Given the description of an element on the screen output the (x, y) to click on. 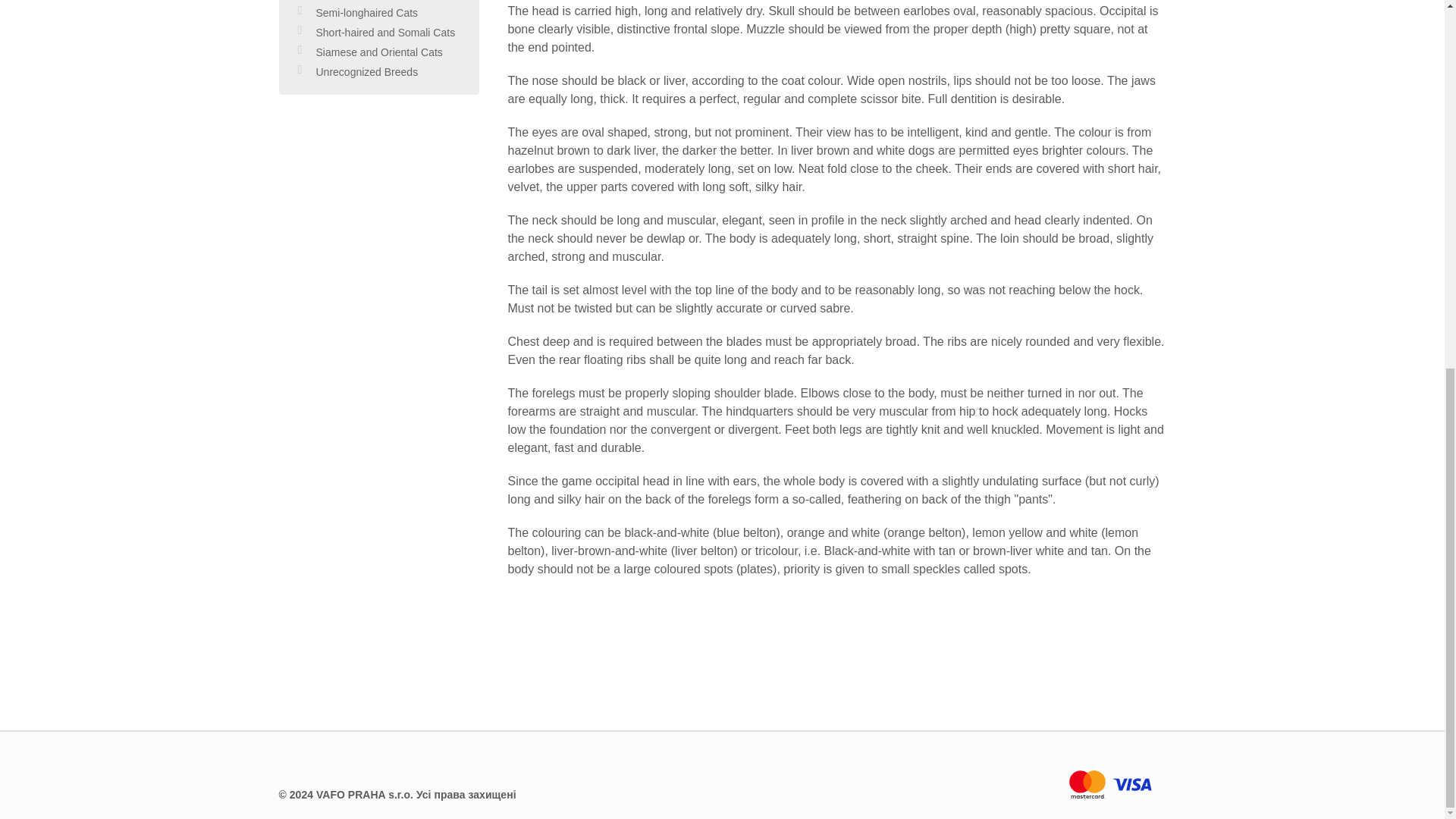
Semi-longhaired Cats (366, 12)
Short-haired and Somali Cats (384, 32)
Siamese and Oriental Cats (378, 51)
Unrecognized Breeds (366, 71)
